Given the description of an element on the screen output the (x, y) to click on. 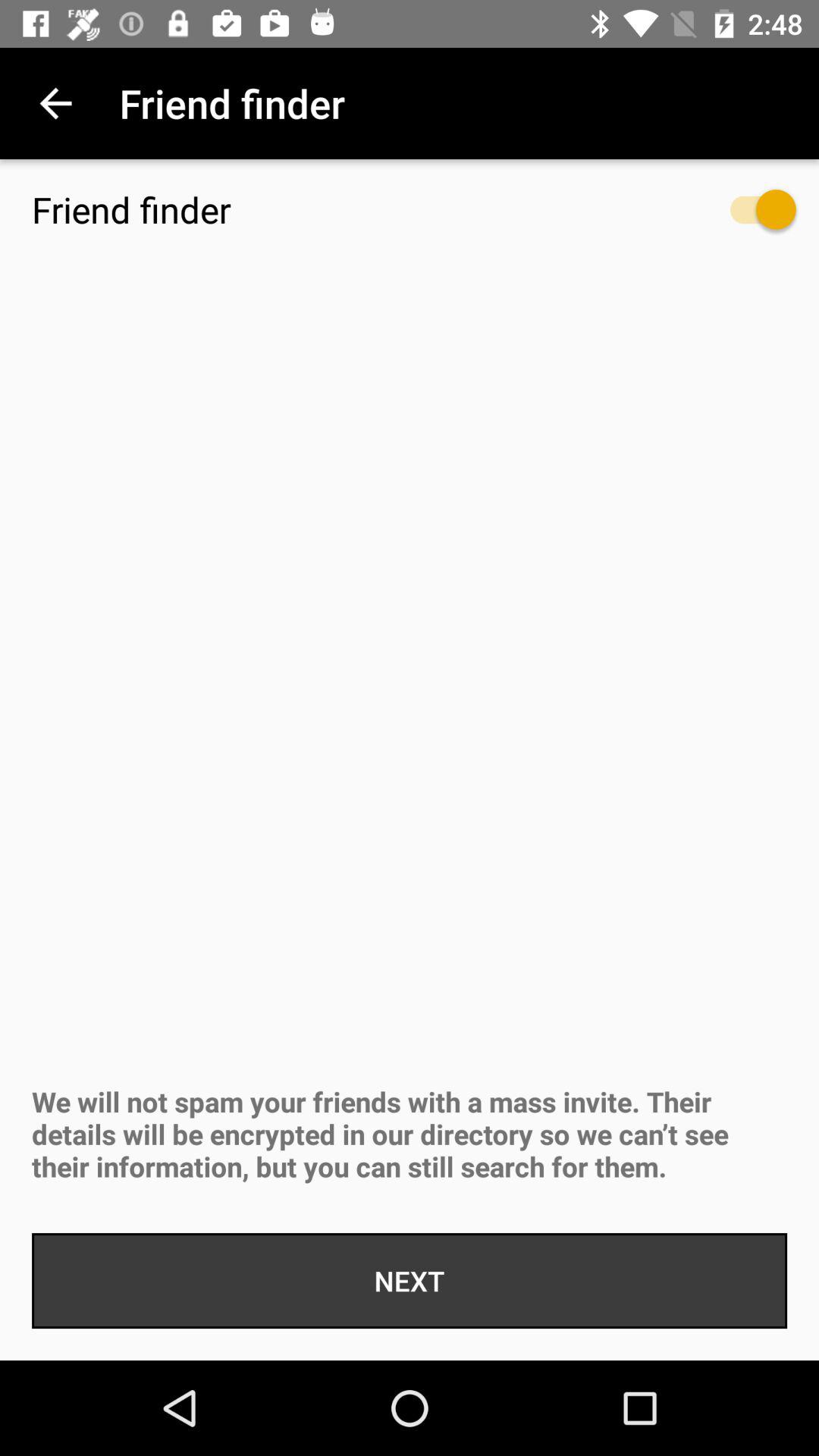
select icon above the we will not item (747, 217)
